Given the description of an element on the screen output the (x, y) to click on. 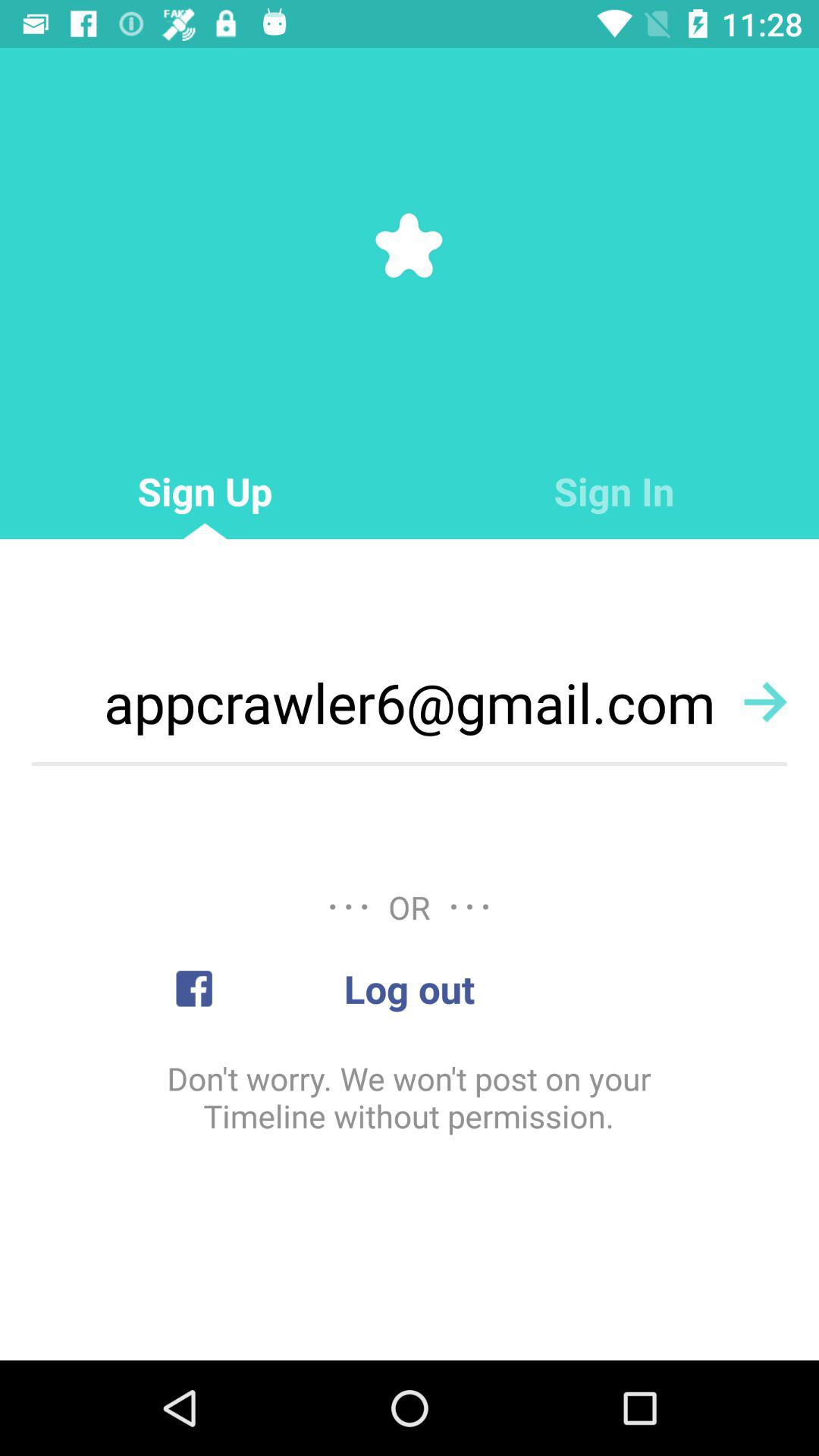
turn off the item above the appcrawler6@gmail.com icon (614, 491)
